Given the description of an element on the screen output the (x, y) to click on. 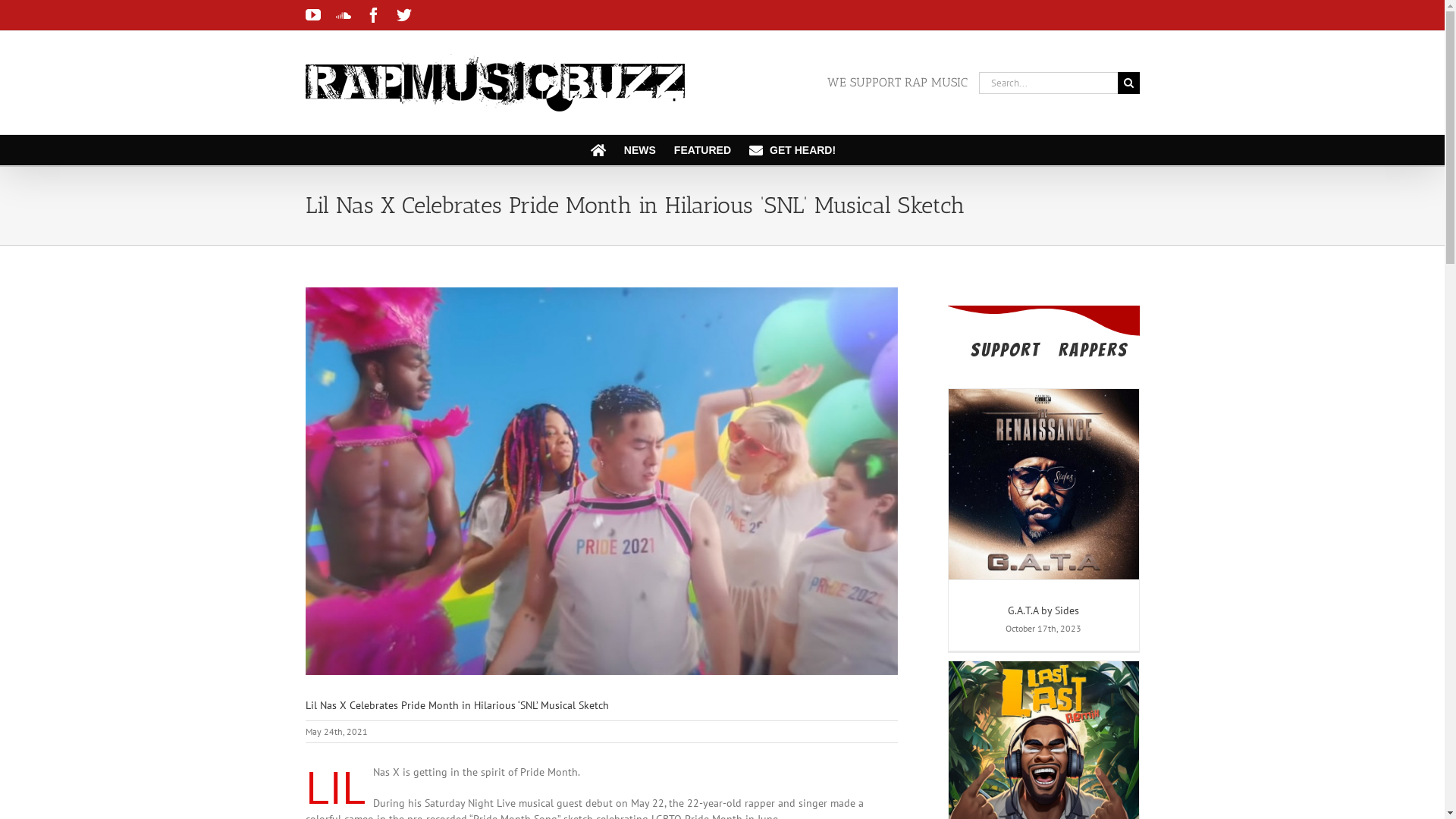
Facebook Element type: text (372, 14)
FEATURED Element type: text (702, 149)
SoundCloud Element type: text (342, 14)
YouTube Element type: text (312, 14)
GET HEARD! Element type: text (792, 149)
Twitter Element type: text (403, 14)
NEWS Element type: text (639, 149)
G.A.T.A by Sides Element type: text (1043, 610)
